Given the description of an element on the screen output the (x, y) to click on. 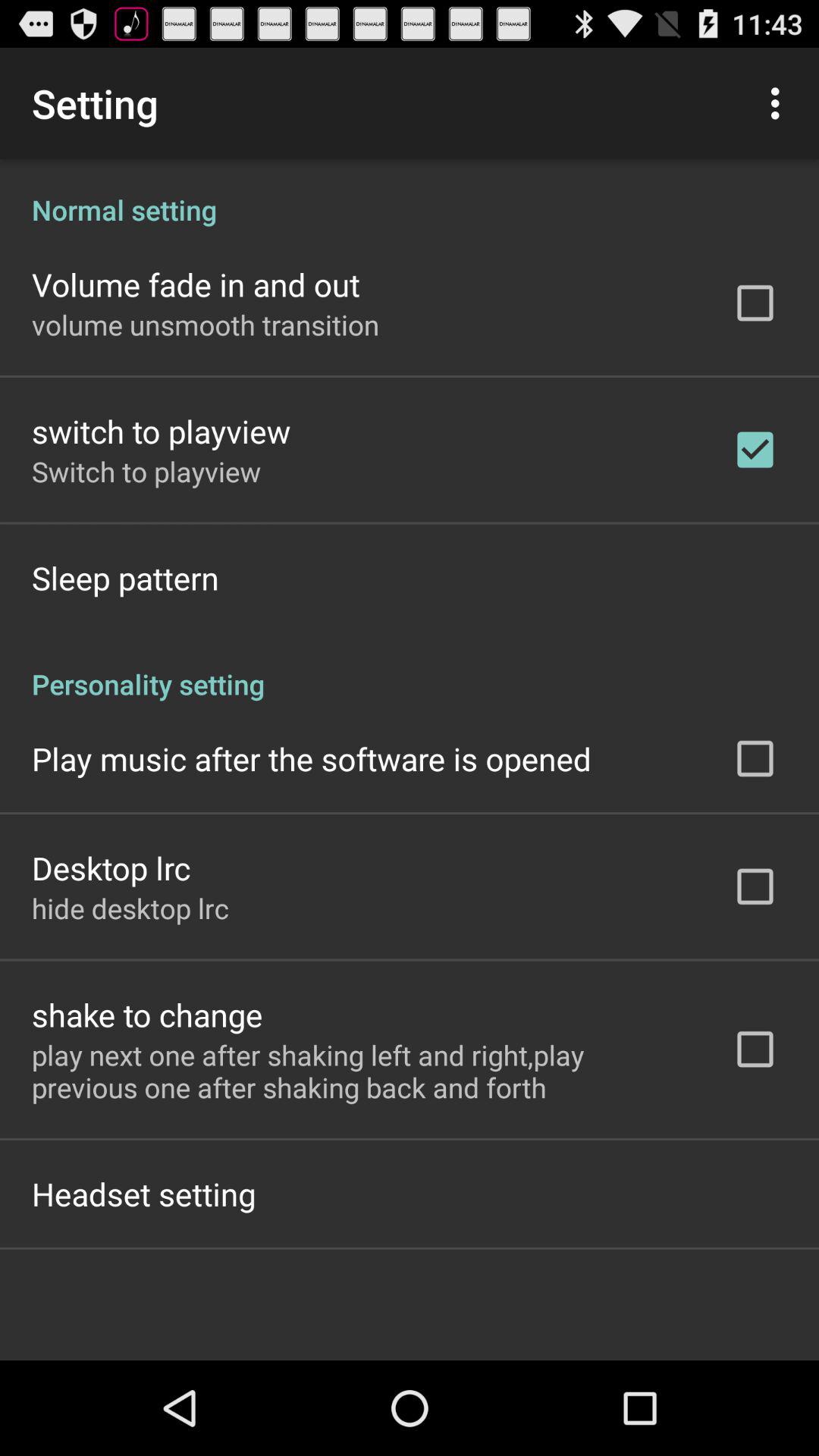
choose icon at the bottom (361, 1071)
